Given the description of an element on the screen output the (x, y) to click on. 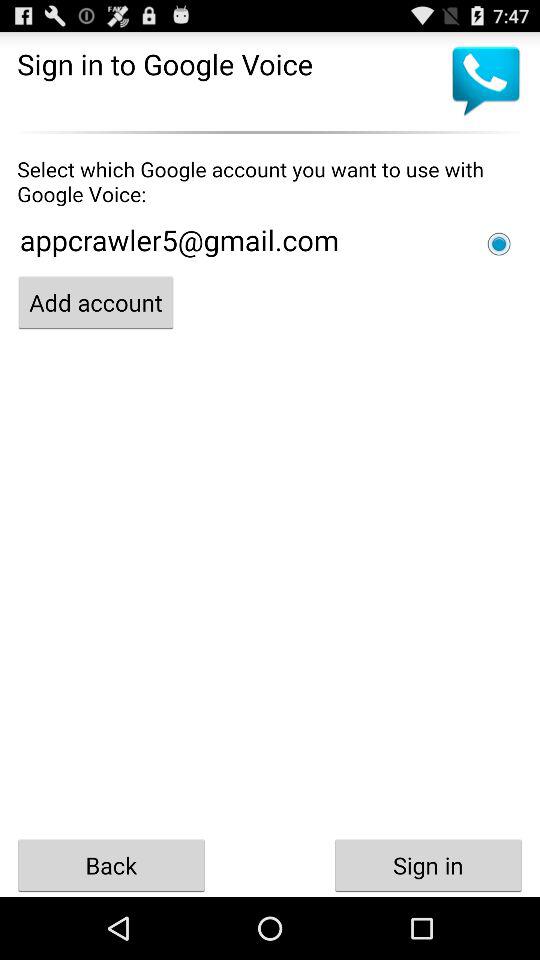
select e-mail (499, 244)
